Given the description of an element on the screen output the (x, y) to click on. 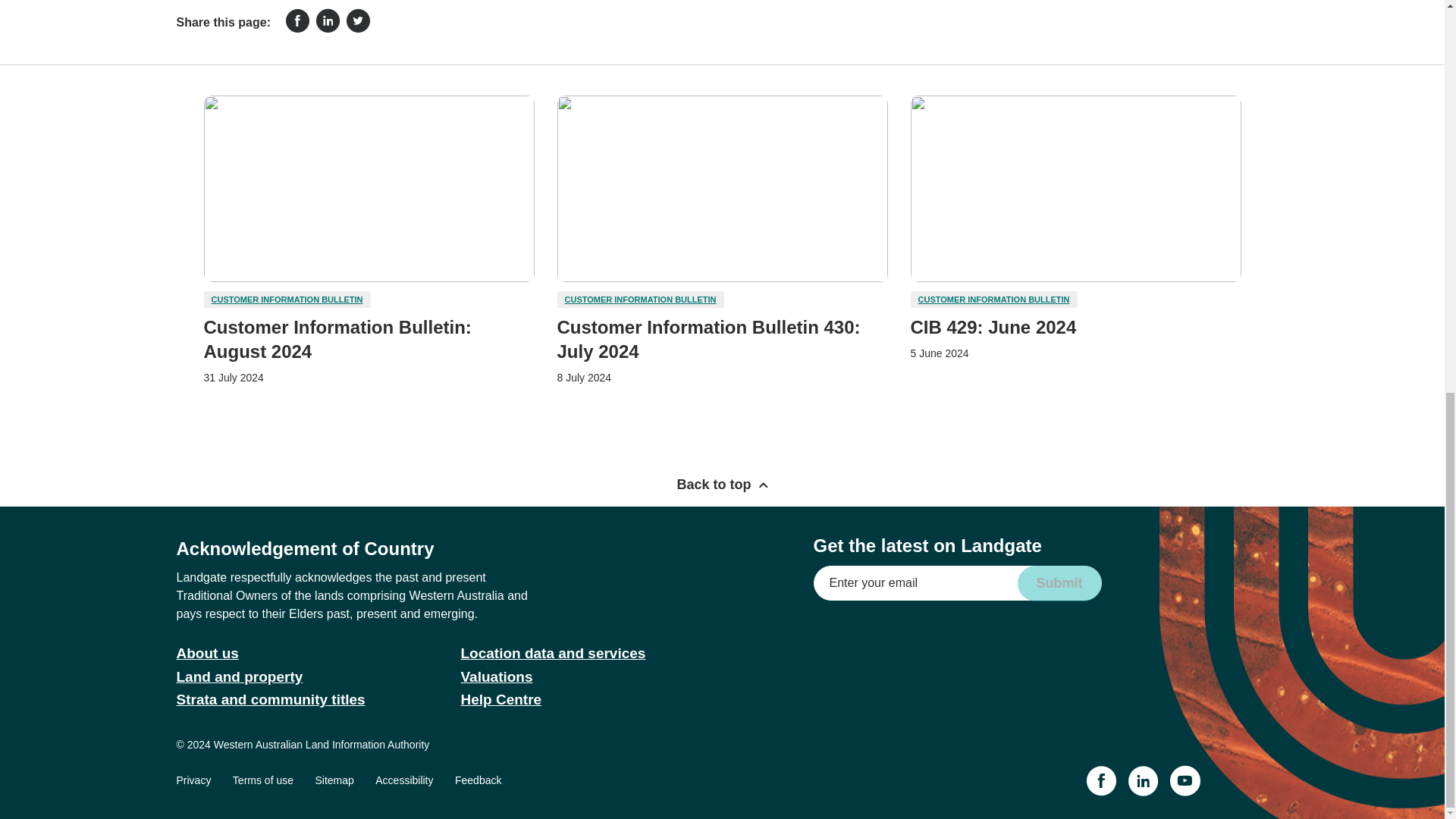
Valuations (496, 676)
Location data and services (553, 652)
Help Centre (501, 699)
